Given the description of an element on the screen output the (x, y) to click on. 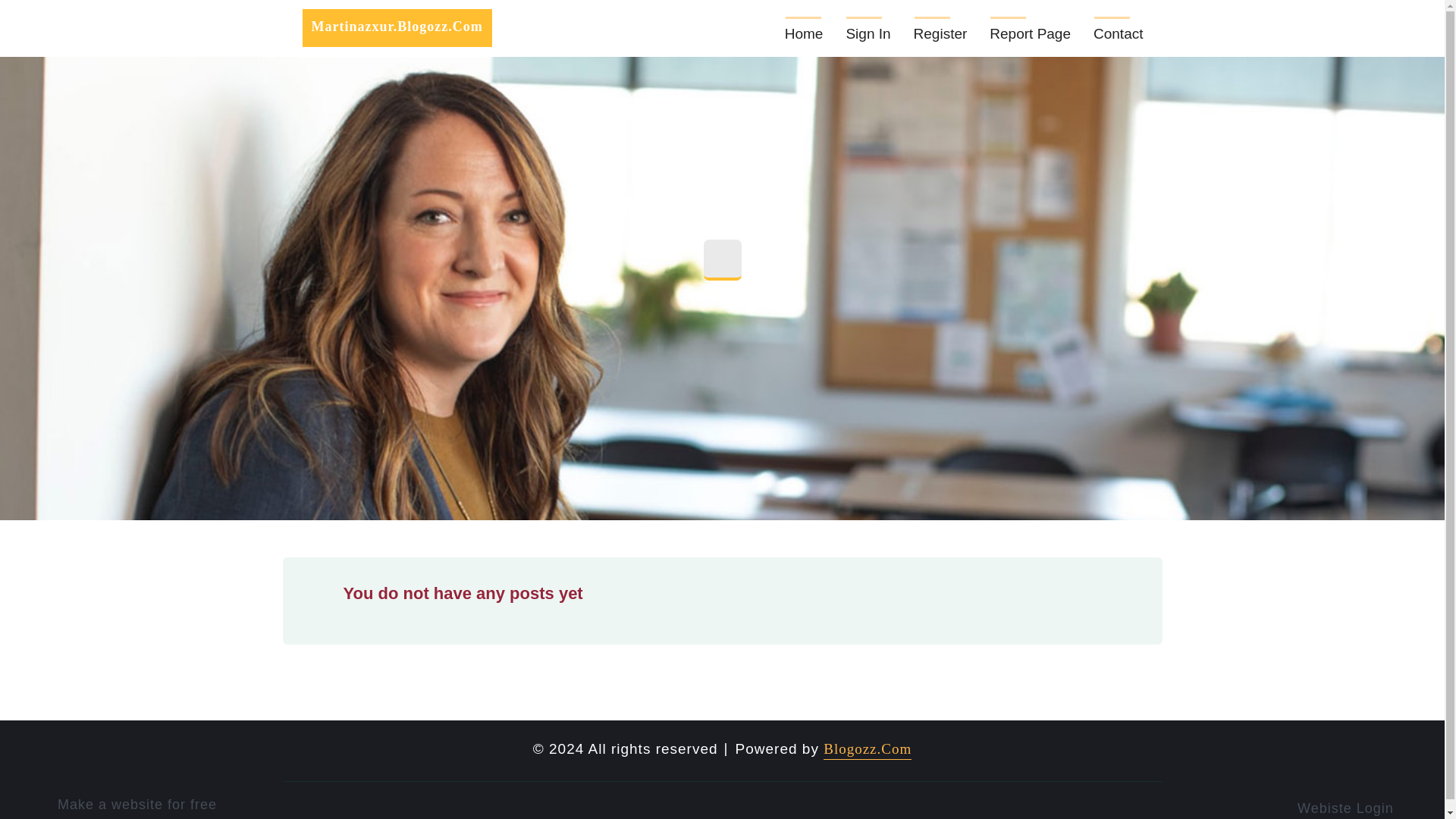
Blogozz.Com (867, 750)
Sign In (867, 28)
Register (940, 28)
Contact (1117, 28)
Report Page (1029, 28)
Martinazxur.Blogozz.Com (396, 27)
Webiste Login (1355, 806)
Make a website for free (141, 804)
Home (803, 28)
